Given the description of an element on the screen output the (x, y) to click on. 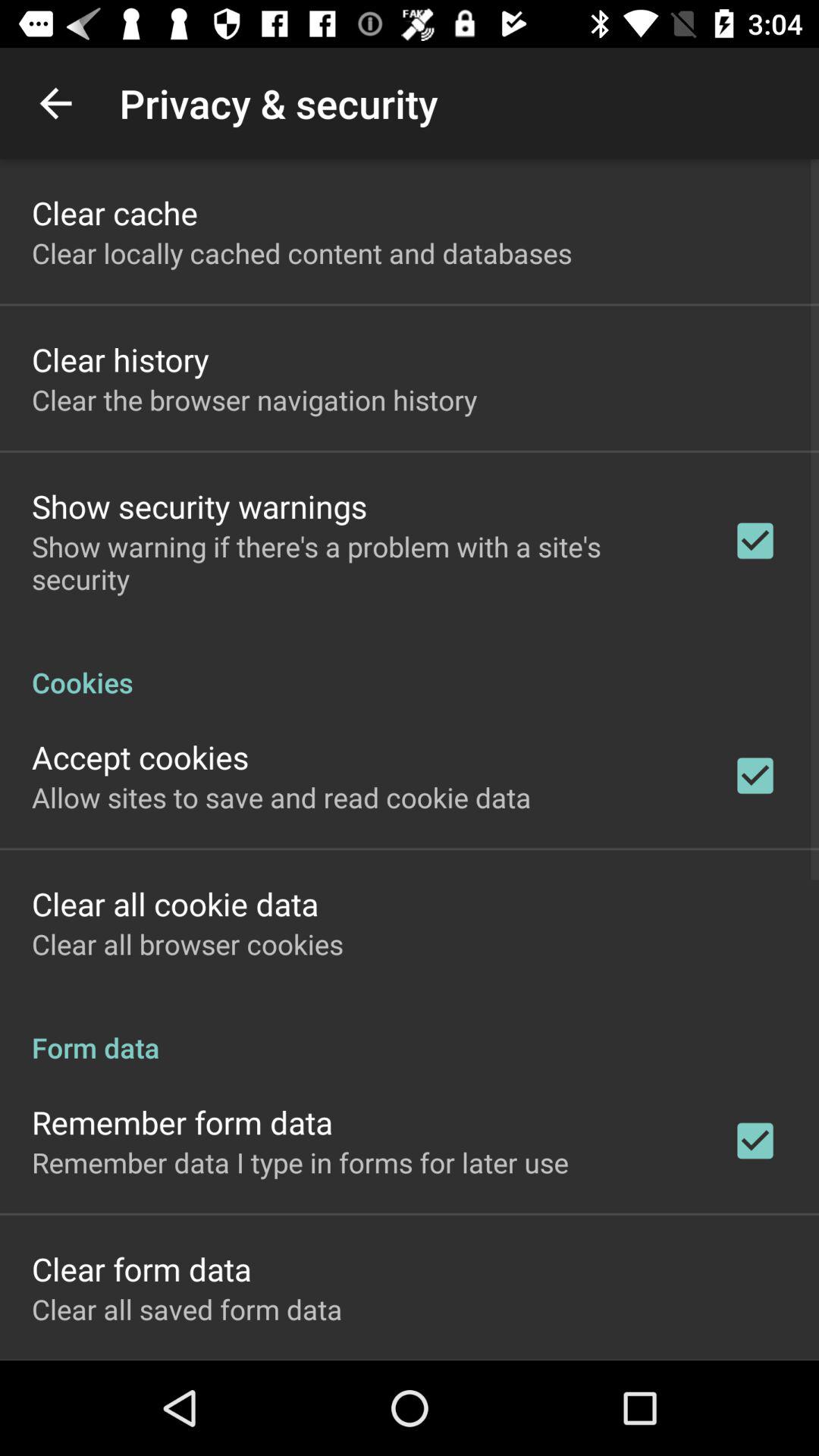
flip to clear cache item (114, 212)
